Given the description of an element on the screen output the (x, y) to click on. 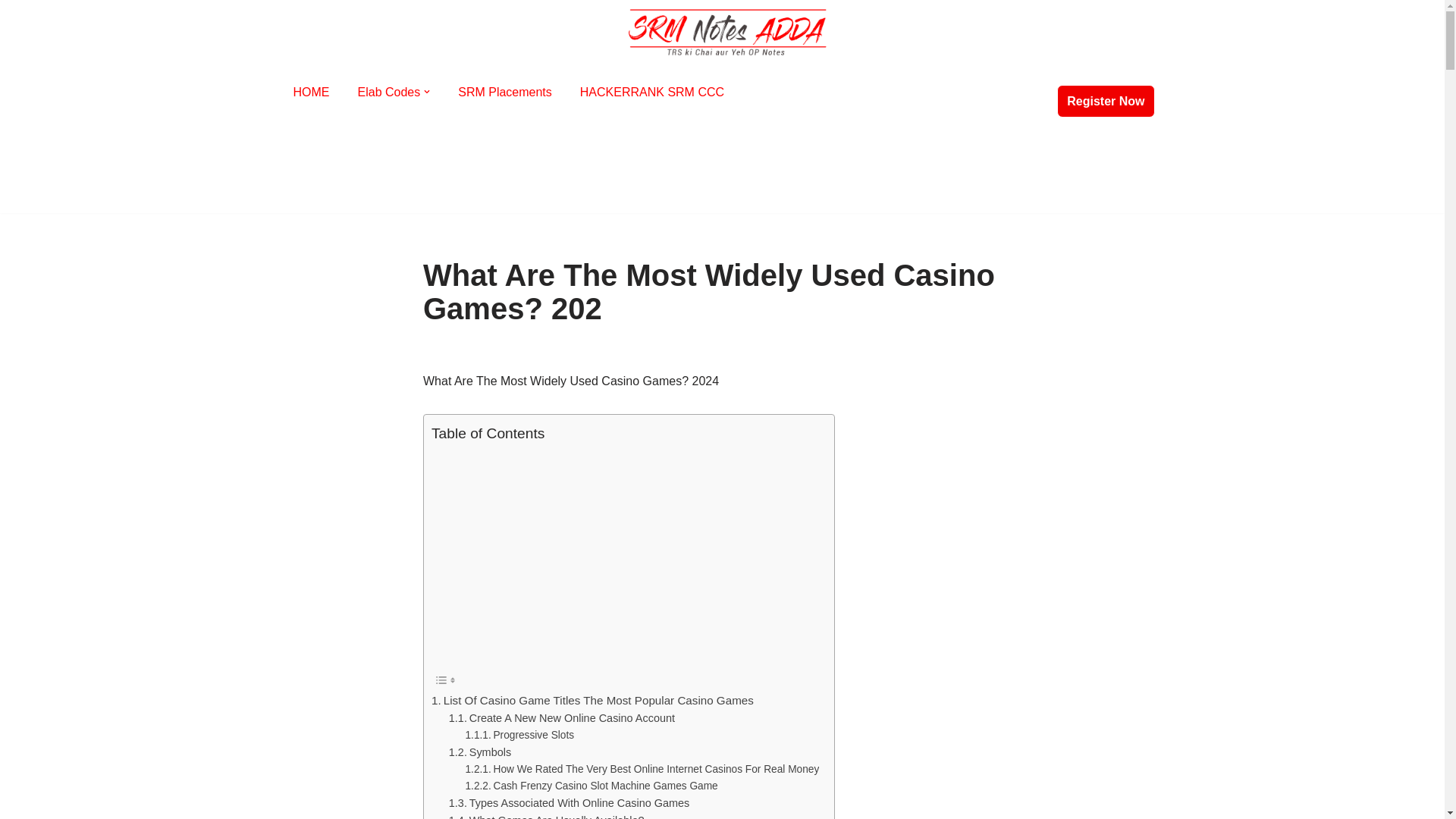
Skip to content (11, 31)
HOME (310, 91)
Create A New New Online Casino Account (561, 718)
SRM Placements (504, 91)
HACKERRANK SRM CCC (651, 91)
Symbols (479, 752)
Types Associated With Online Casino Games (568, 803)
What Games Are Usually Available?  (546, 815)
Register Now (1105, 101)
